Given the description of an element on the screen output the (x, y) to click on. 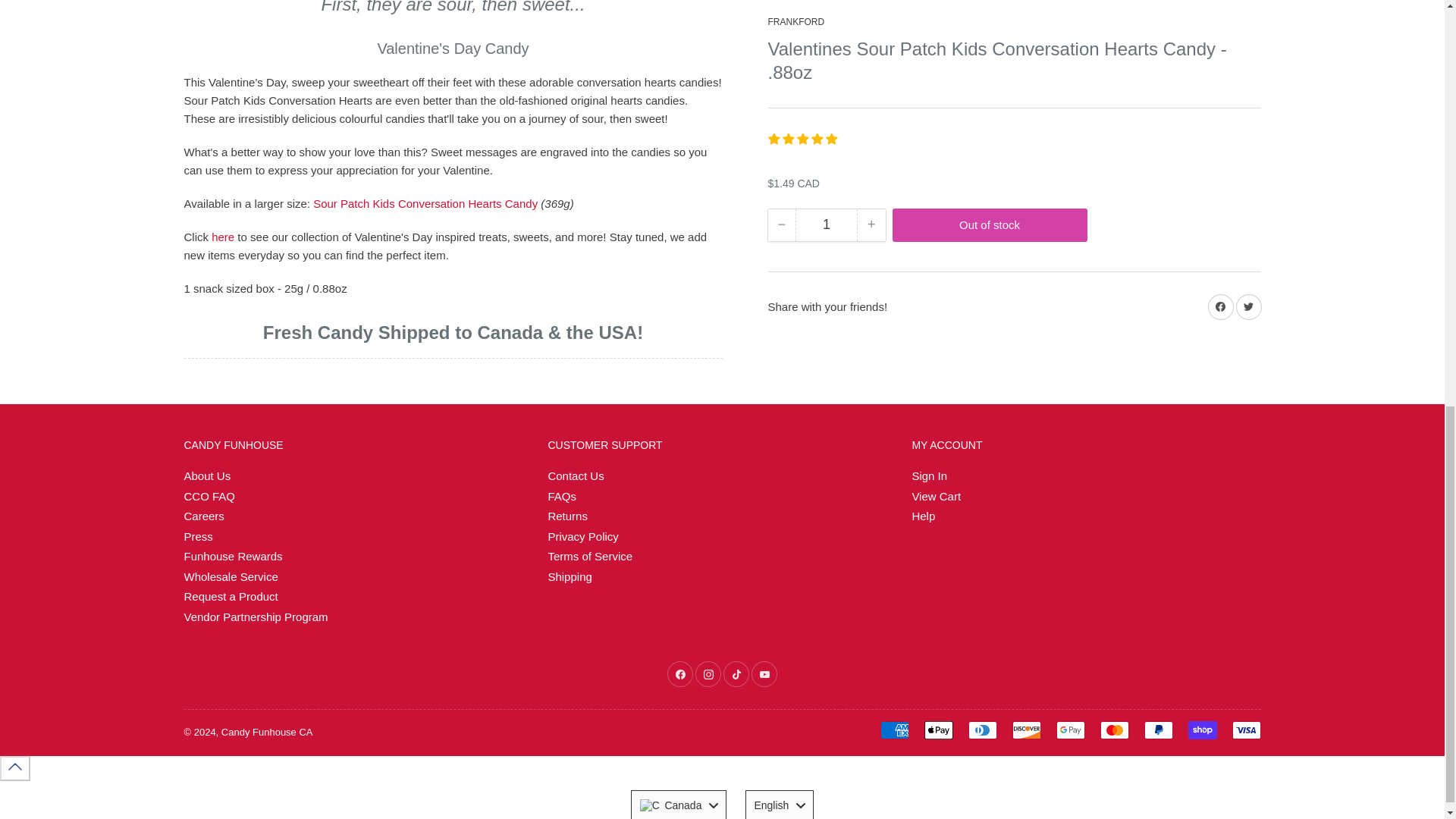
Diners Club (981, 730)
American Express (893, 730)
Discover (1026, 730)
Apple Pay (937, 730)
